Given the description of an element on the screen output the (x, y) to click on. 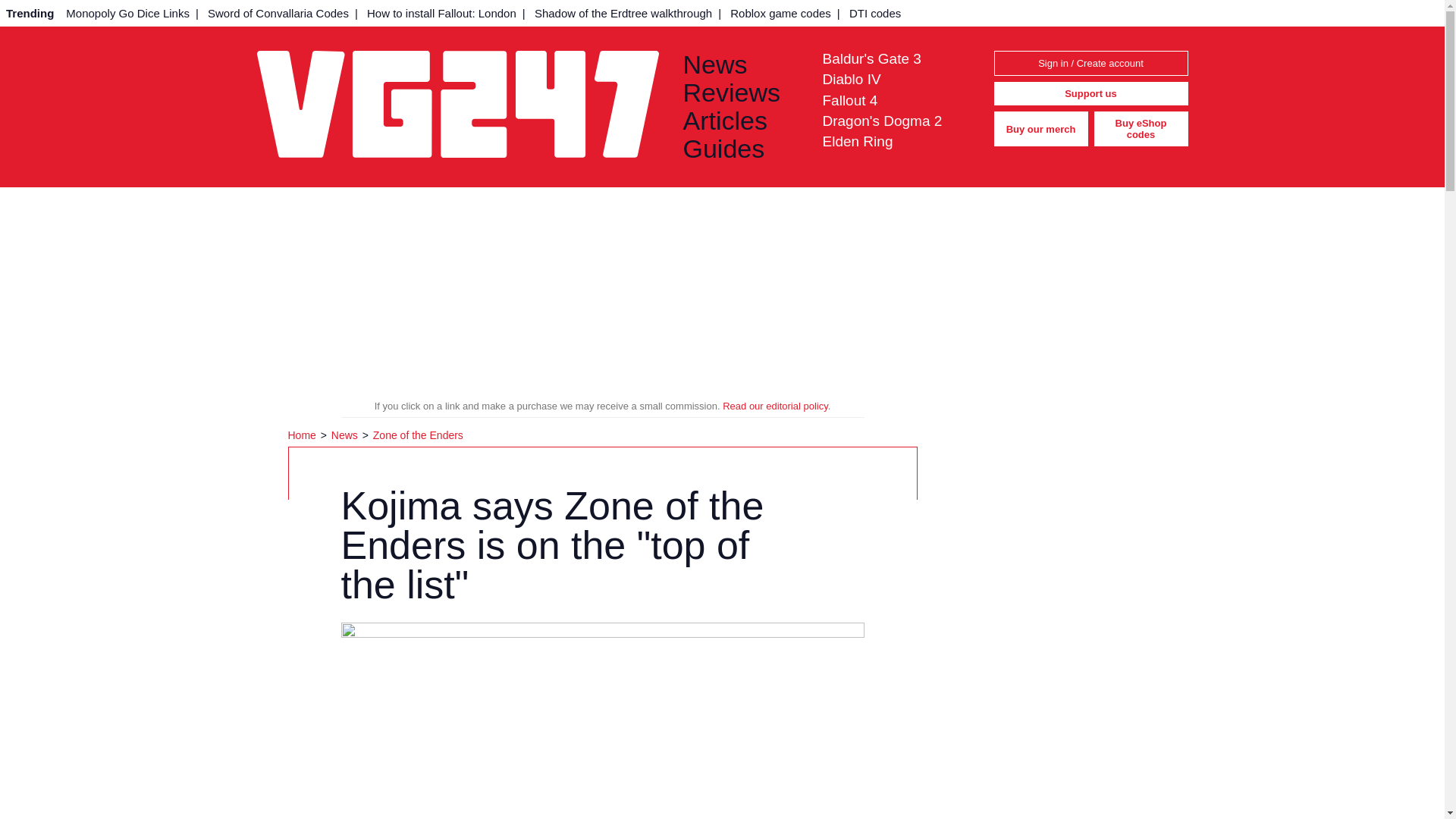
How to install Fallout: London (441, 13)
Zone of the Enders (417, 435)
Baldur's Gate 3 (871, 58)
Guides (739, 148)
Dragon's Dogma 2 (882, 120)
Monopoly Go Dice Links (127, 13)
Monopoly Go Dice Links (127, 13)
DTI codes (875, 13)
Articles (739, 121)
How to install Fallout: London (441, 13)
